Given the description of an element on the screen output the (x, y) to click on. 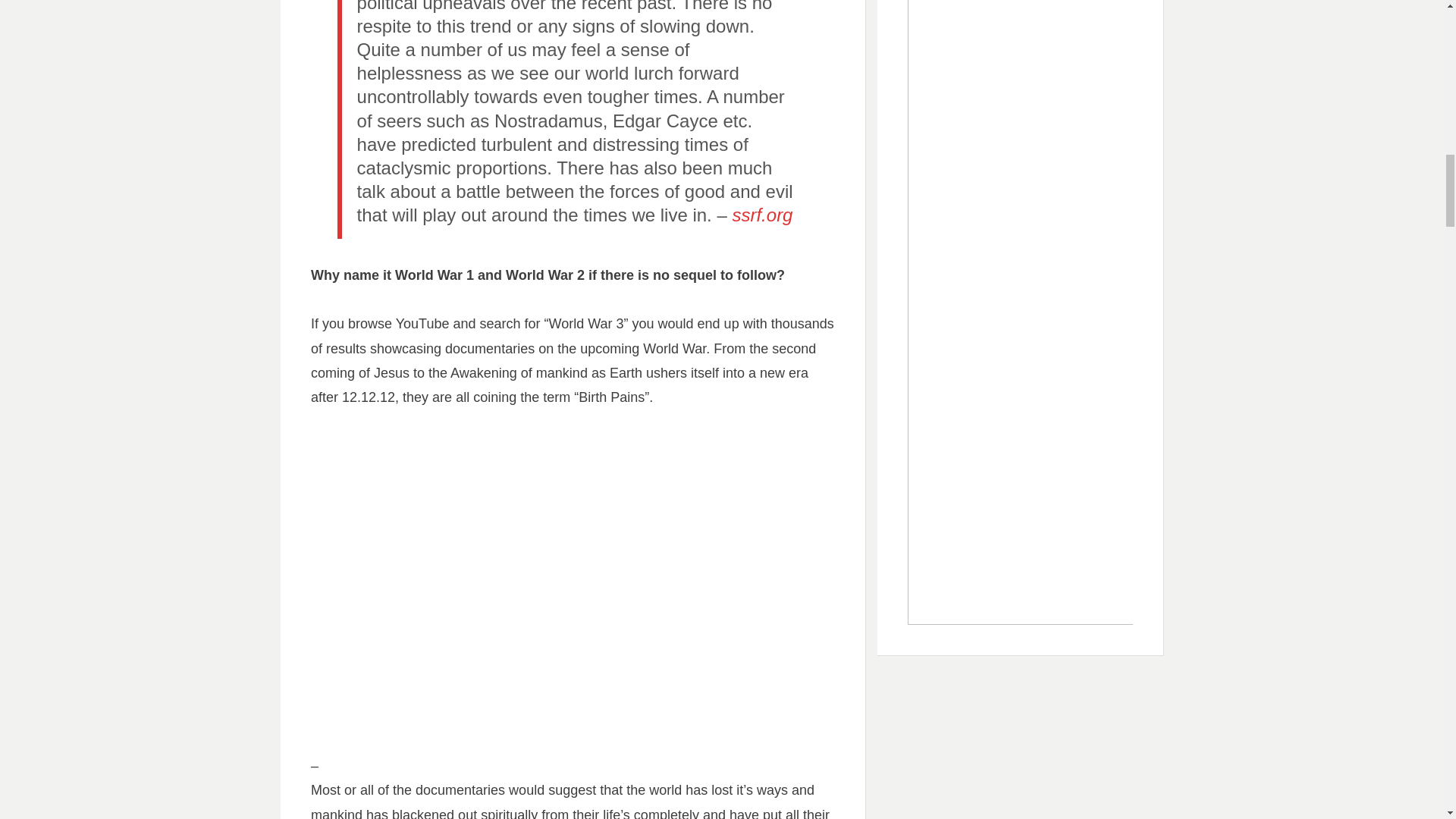
ssrf.org (762, 214)
